Given the description of an element on the screen output the (x, y) to click on. 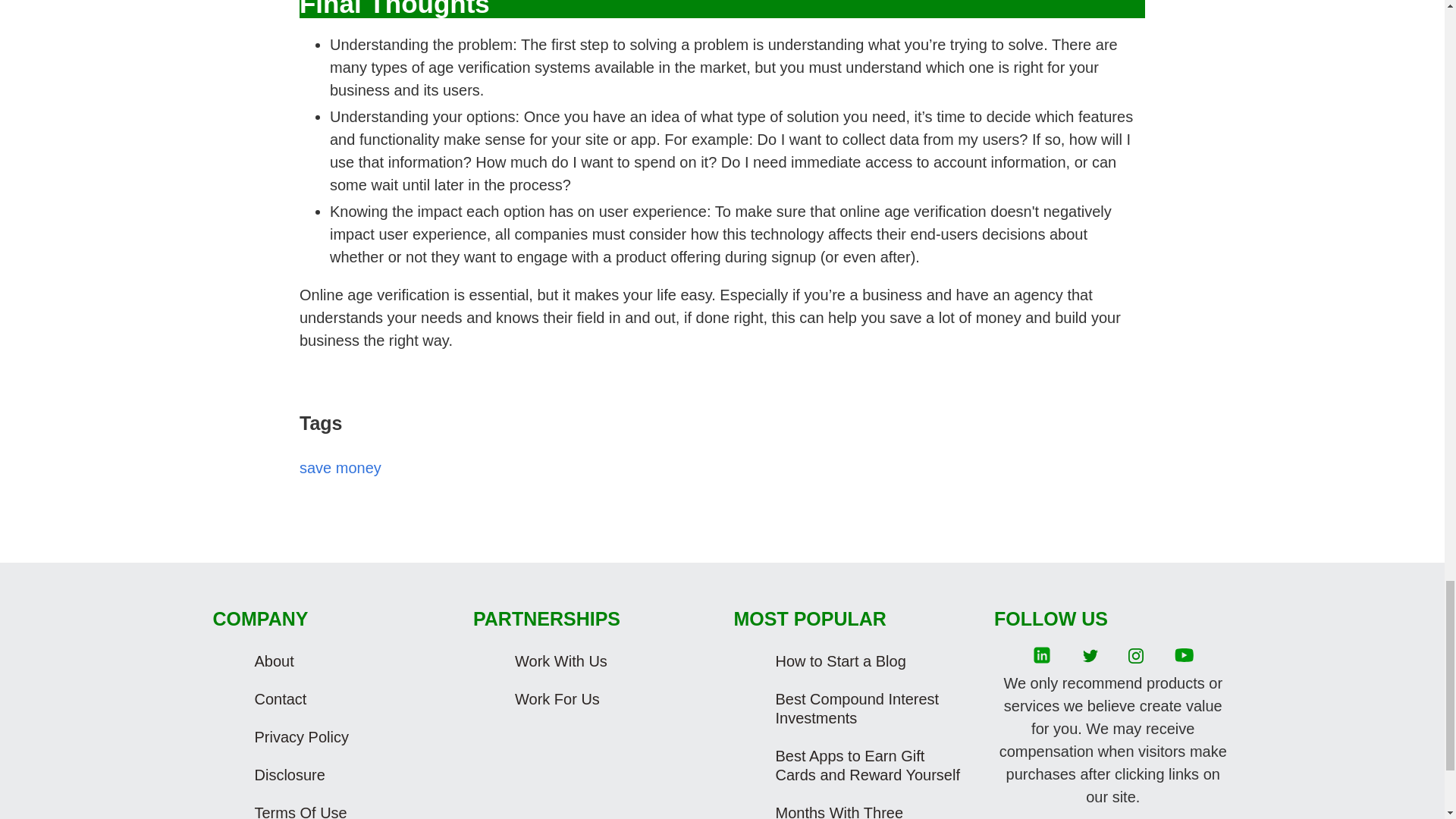
Work For Us (607, 699)
About (346, 661)
save money (340, 467)
Privacy Policy (346, 737)
twitter (1090, 656)
Contact (346, 699)
Disclosure (346, 775)
Months With Three Paychecks (868, 807)
instagram (1136, 656)
How to Start a Blog (868, 661)
